Given the description of an element on the screen output the (x, y) to click on. 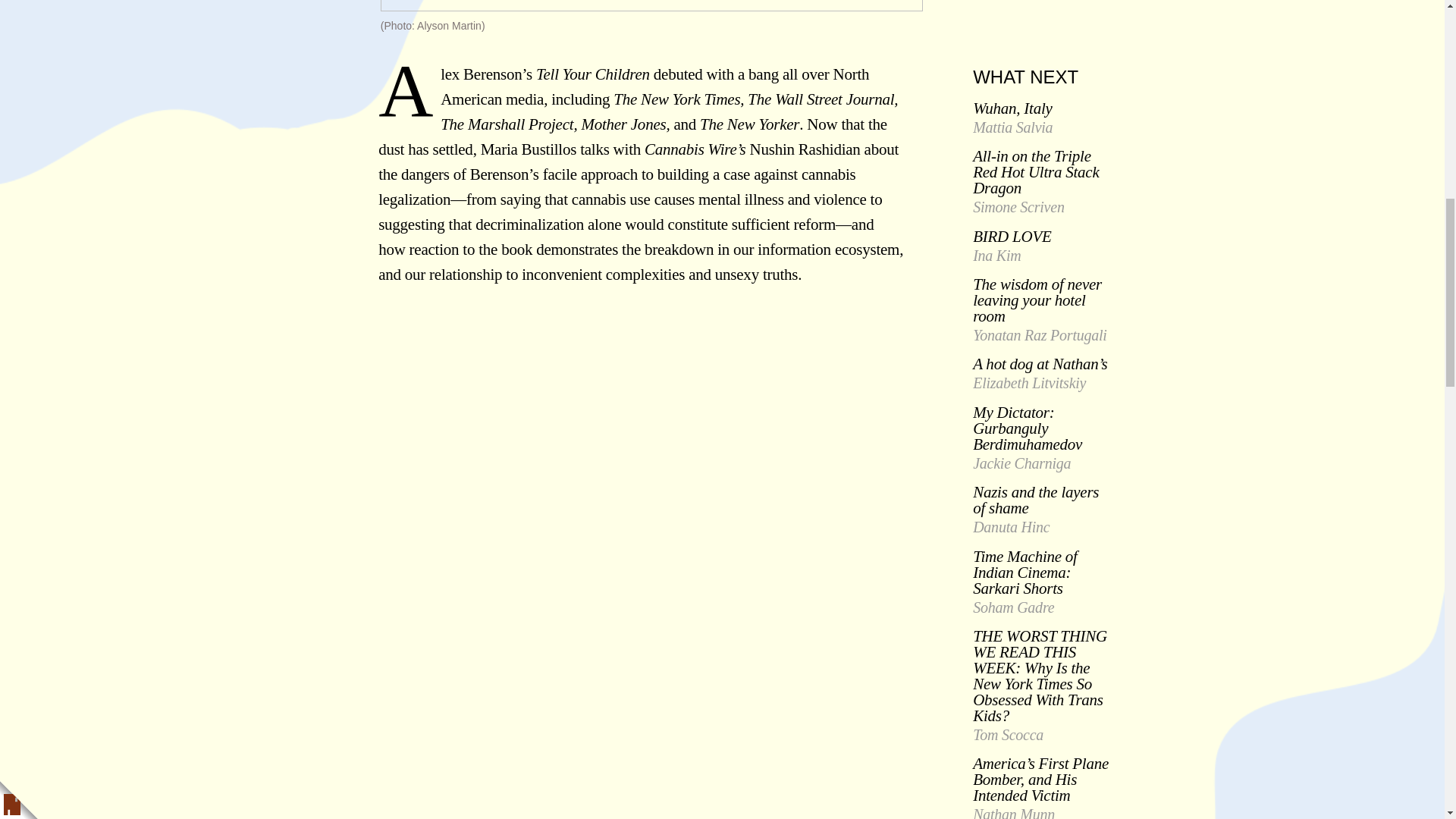
Wuhan, Italy (1011, 108)
People Want to Know How to Feel by Popula (567, 463)
All-in on the Triple Red Hot Ultra Stack Dragon (1035, 172)
My Dictator: Gurbanguly Berdimuhamedov (1026, 428)
Wuhan, Italy (1011, 108)
BIRD LOVE (1011, 236)
Time Machine of Indian Cinema: Sarkari Shorts (1024, 572)
Nazis and the layers of shame (1035, 499)
The wisdom of never leaving your hotel room (1037, 300)
